Given the description of an element on the screen output the (x, y) to click on. 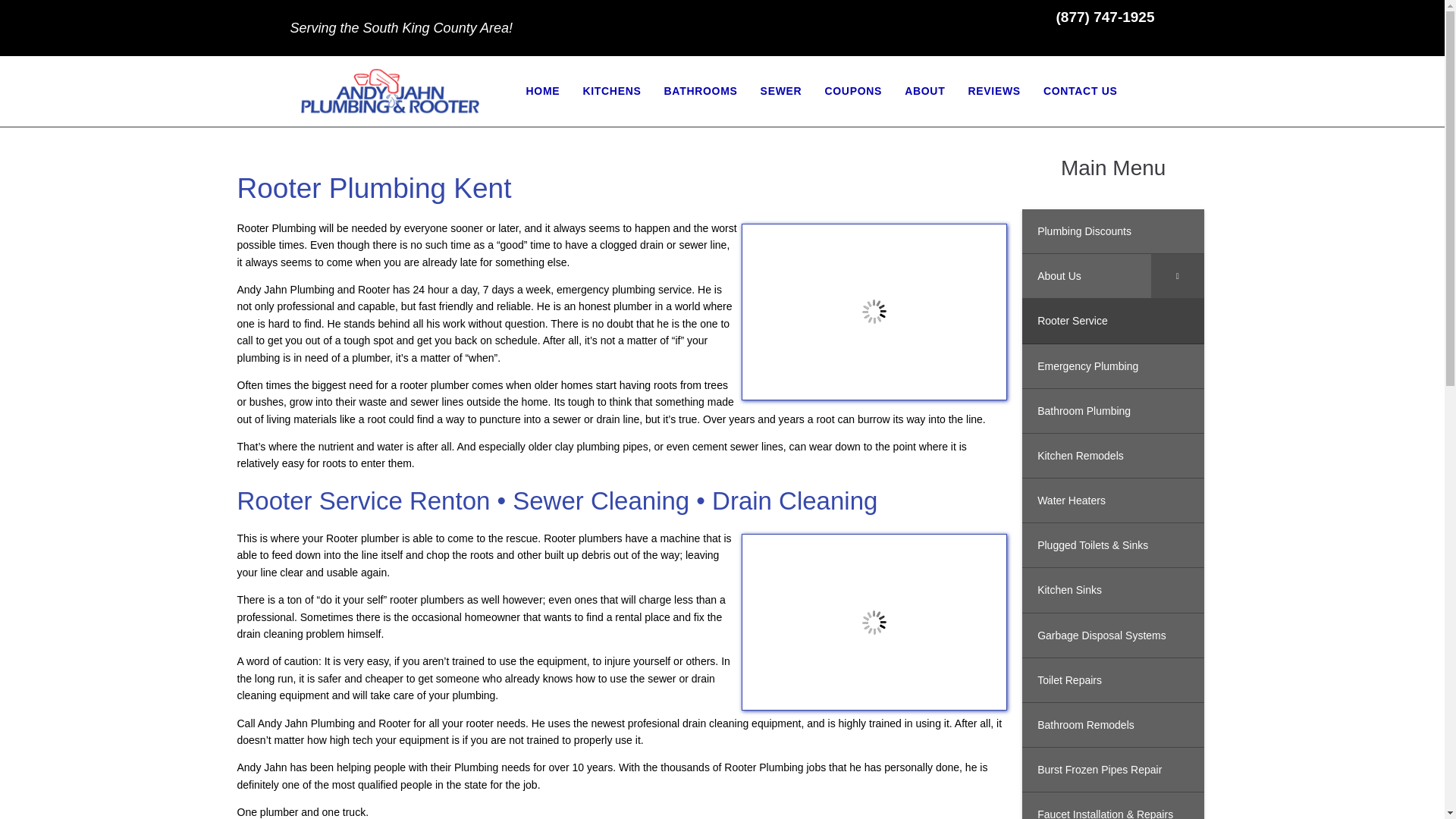
Burst Frozen Pipes Repair (1113, 769)
Plumbing Discounts (1113, 231)
COUPONS (852, 91)
BATHROOMS (700, 91)
About Us (1113, 275)
Kitchen Remodels (1113, 456)
REVIEWS (993, 91)
Garbage Disposal Systems (1113, 635)
Emergency Plumbing (1113, 366)
KITCHENS (611, 91)
Toilet Repairs (1113, 680)
Bathroom Plumbing (1113, 411)
Bathroom Remodels (1113, 724)
Rooter Service (1113, 320)
CONTACT US (1080, 91)
